Given the description of an element on the screen output the (x, y) to click on. 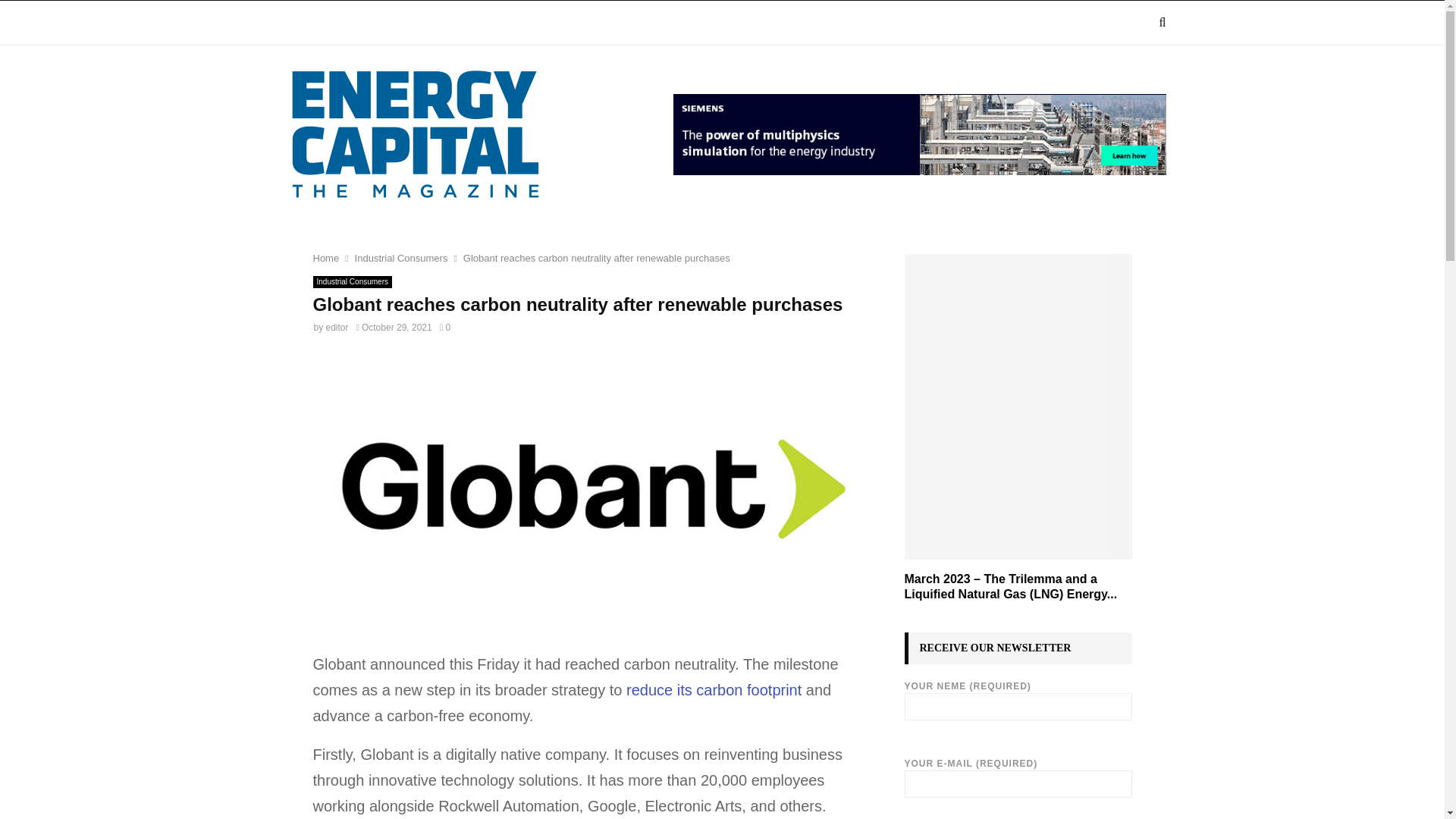
MAGAZINE (383, 22)
HOME (308, 22)
SECTORS (474, 22)
